Given the description of an element on the screen output the (x, y) to click on. 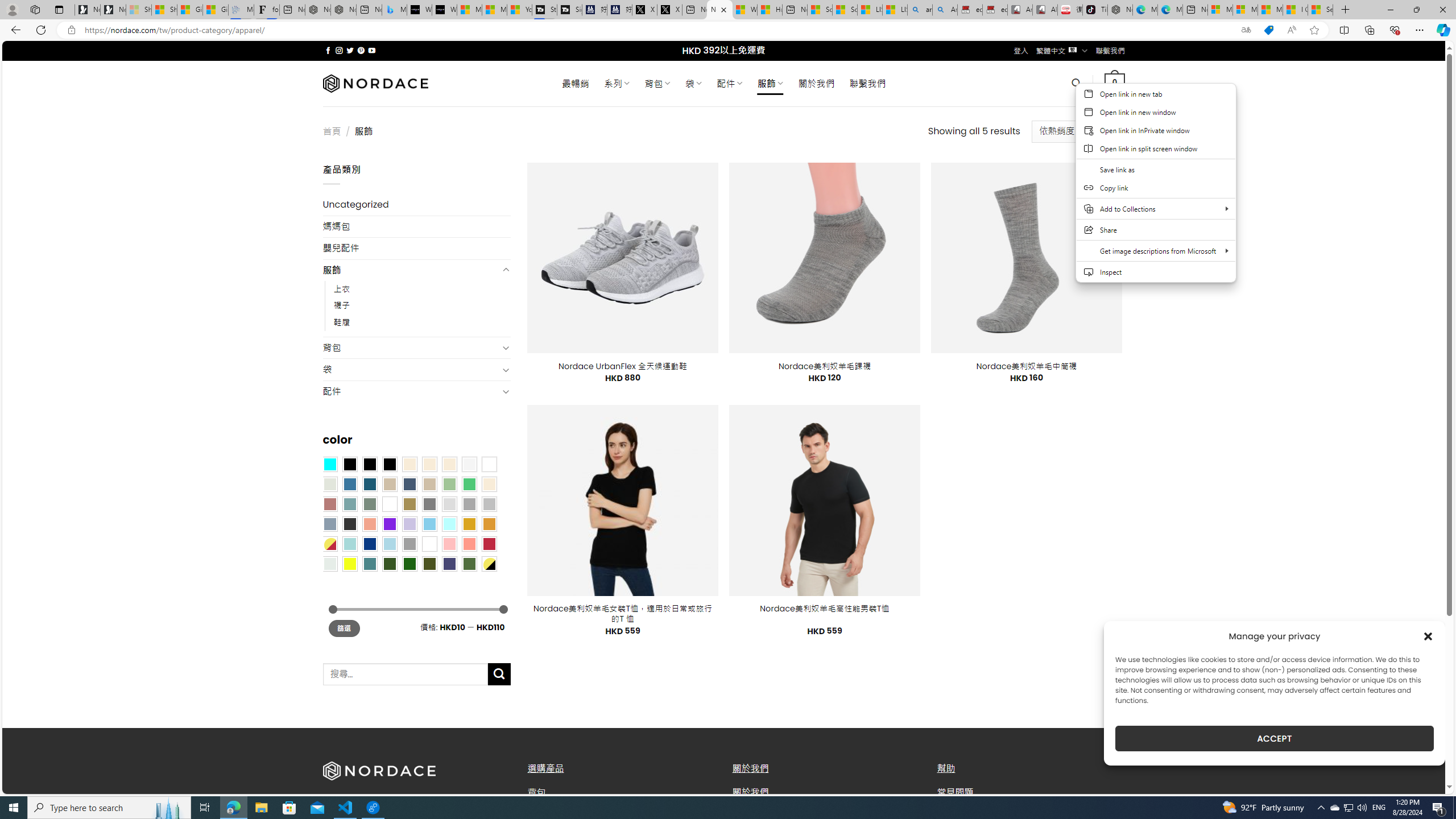
This site has coupons! Shopping in Microsoft Edge (1268, 29)
Class: cmplz-close (1428, 636)
